Given the description of an element on the screen output the (x, y) to click on. 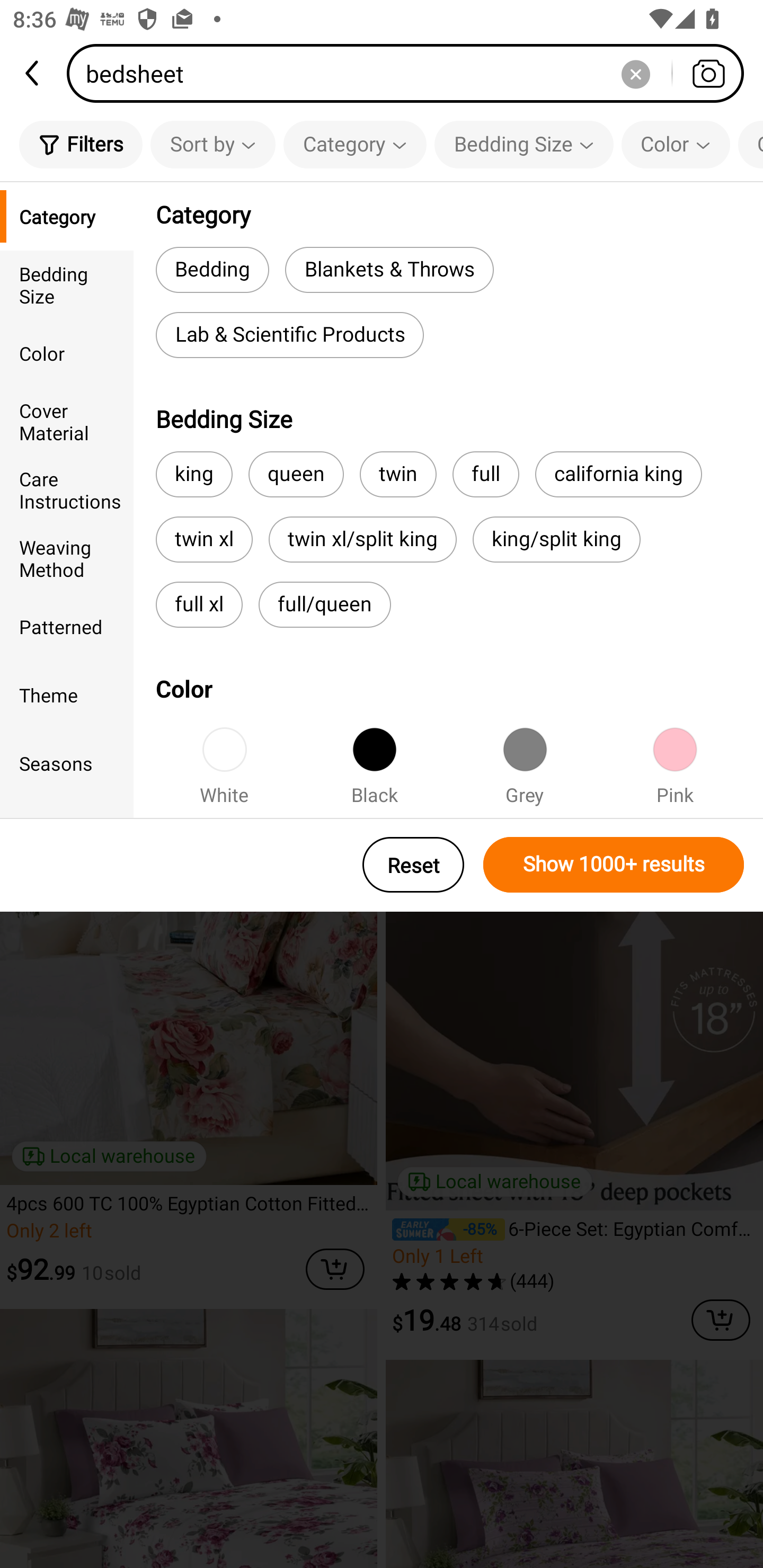
back (33, 72)
bedsheet (411, 73)
Delete search history (635, 73)
Search by photo (708, 73)
Filters (80, 143)
Sort by (212, 143)
Category (354, 143)
Bedding Size (523, 143)
Color (675, 143)
Category (66, 215)
Bedding (212, 269)
Blankets & Throws (389, 269)
Bedding Size (66, 284)
Lab & Scientific Products (289, 334)
Color (66, 352)
Cover Material (66, 421)
king (193, 474)
queen (296, 474)
twin (398, 474)
full (485, 474)
